Given the description of an element on the screen output the (x, y) to click on. 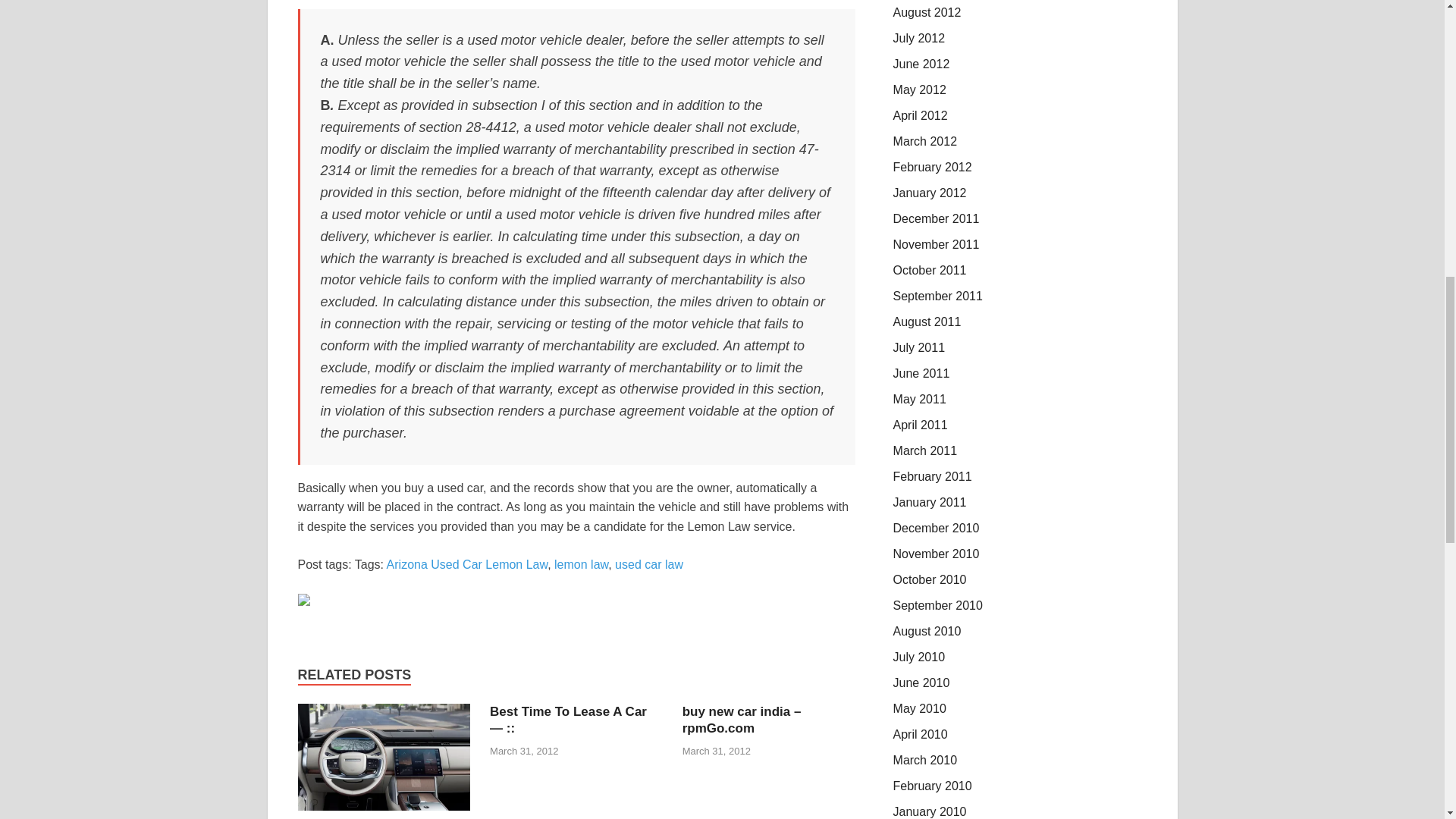
December 2011 (936, 218)
July 2012 (918, 38)
Arizona Used Car Lemon Law (467, 563)
used car law (648, 563)
April 2012 (920, 115)
November 2011 (936, 244)
May 2012 (919, 89)
lemon law (581, 563)
February 2012 (932, 166)
March 2012 (925, 141)
August 2012 (926, 11)
January 2012 (929, 192)
June 2012 (921, 63)
